Given the description of an element on the screen output the (x, y) to click on. 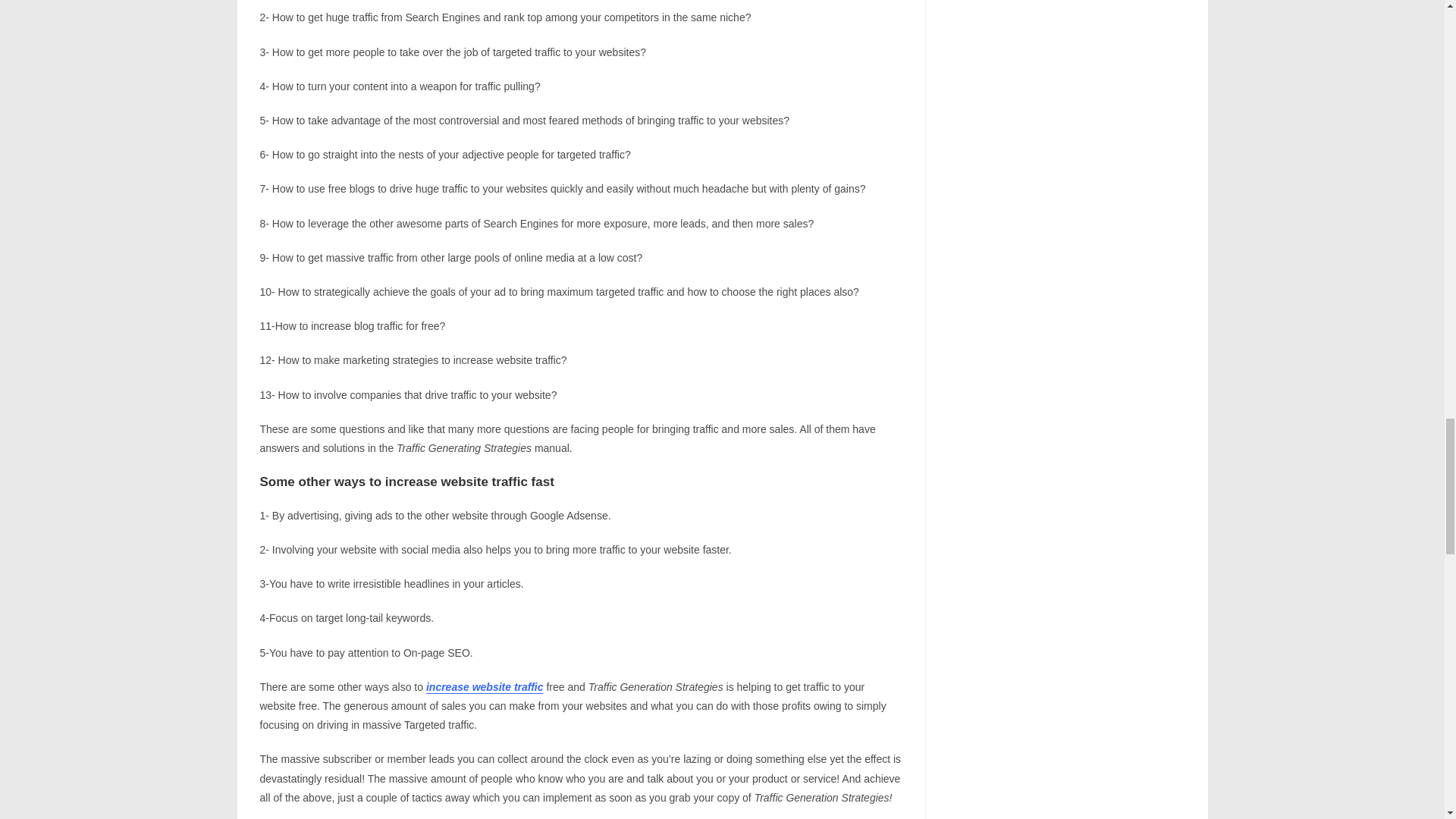
increase website traffic (484, 686)
